Given the description of an element on the screen output the (x, y) to click on. 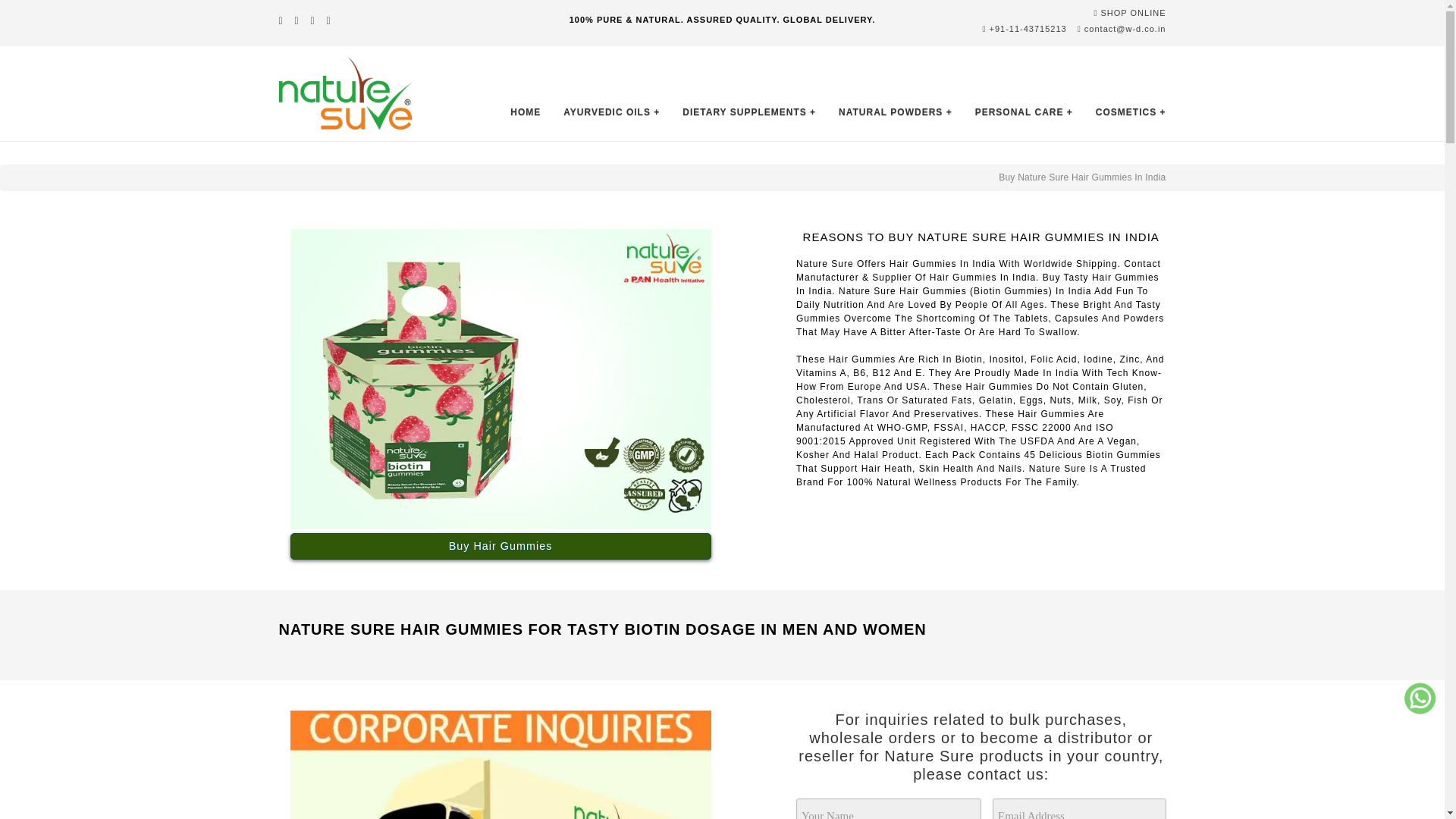
NATURAL POWDERS (895, 112)
Enquiry Form (981, 808)
SHOP ONLINE (1129, 12)
DIETARY SUPPLEMENTS (748, 112)
Nature Sure (345, 93)
HOME (525, 112)
AYURVEDIC OILS (611, 112)
